Given the description of an element on the screen output the (x, y) to click on. 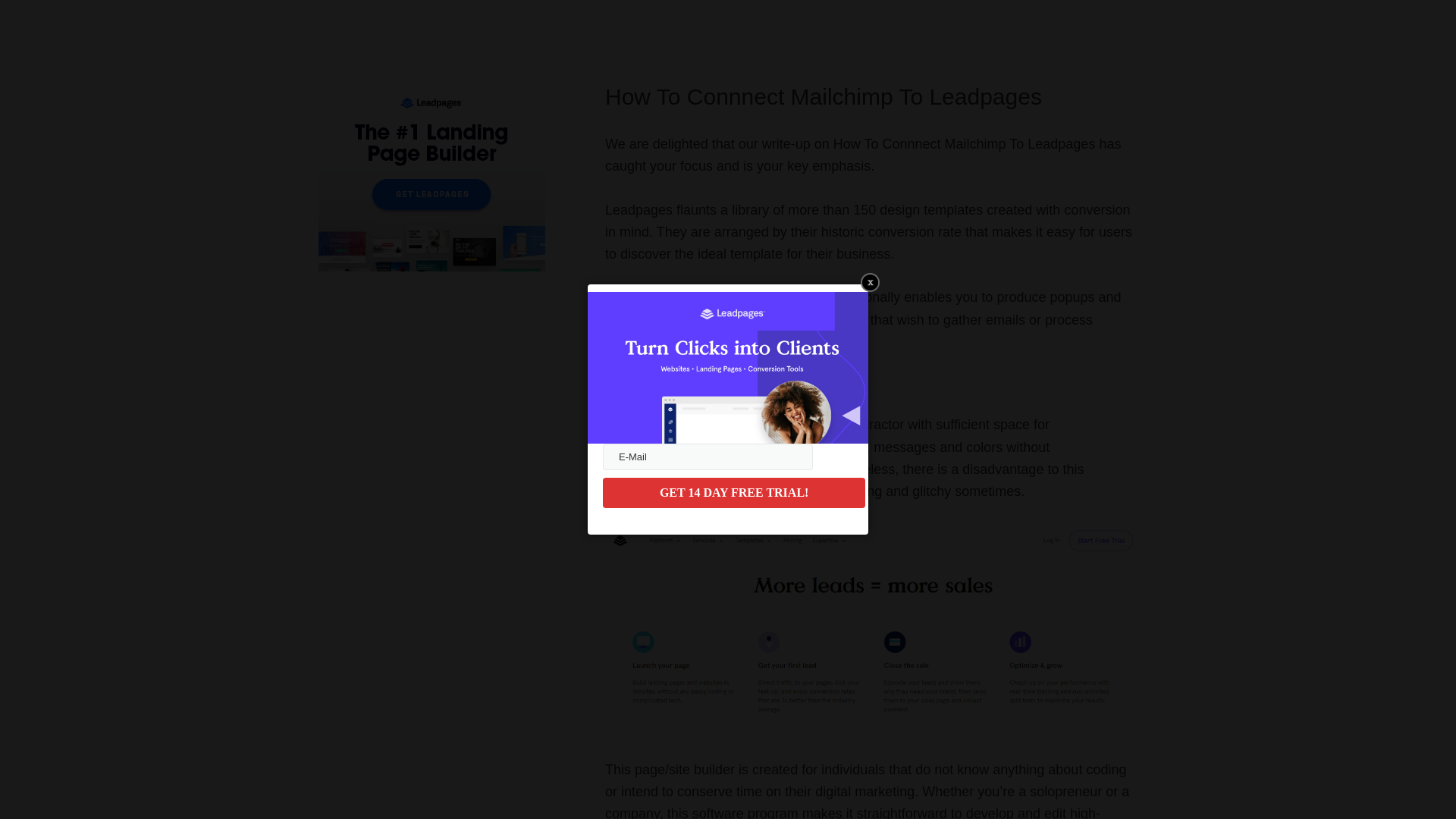
GET 14 DAY FREE TRIAL! (733, 492)
GET 14 DAY FREE TRIAL! (733, 492)
